Given the description of an element on the screen output the (x, y) to click on. 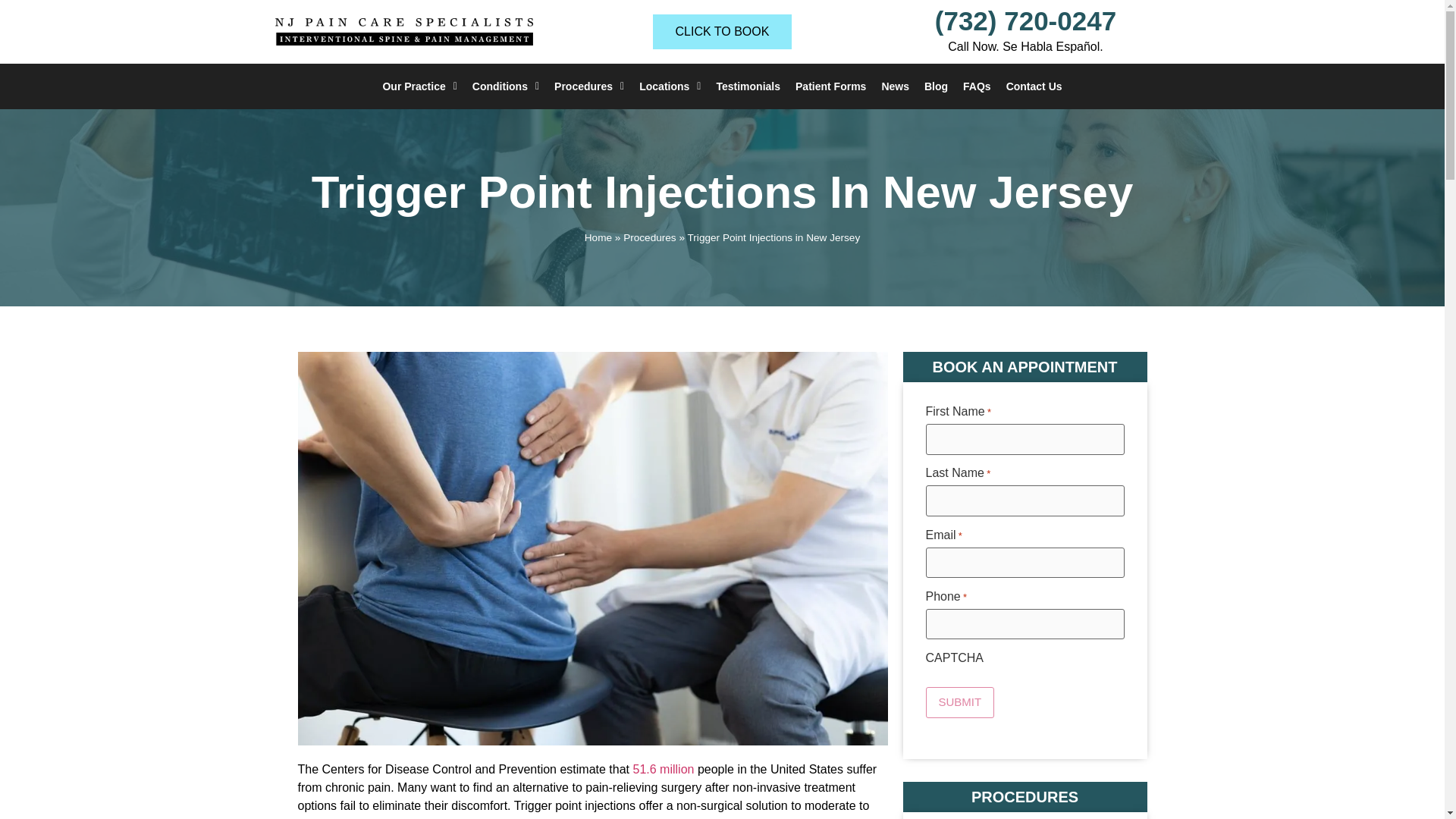
FAQs (976, 86)
Testimonials (747, 86)
Blog (936, 86)
News (895, 86)
Contact Us (1034, 86)
Conditions (505, 86)
CLICK TO BOOK (722, 31)
Our Practice (419, 86)
Locations (669, 86)
Patient Forms (830, 86)
